Given the description of an element on the screen output the (x, y) to click on. 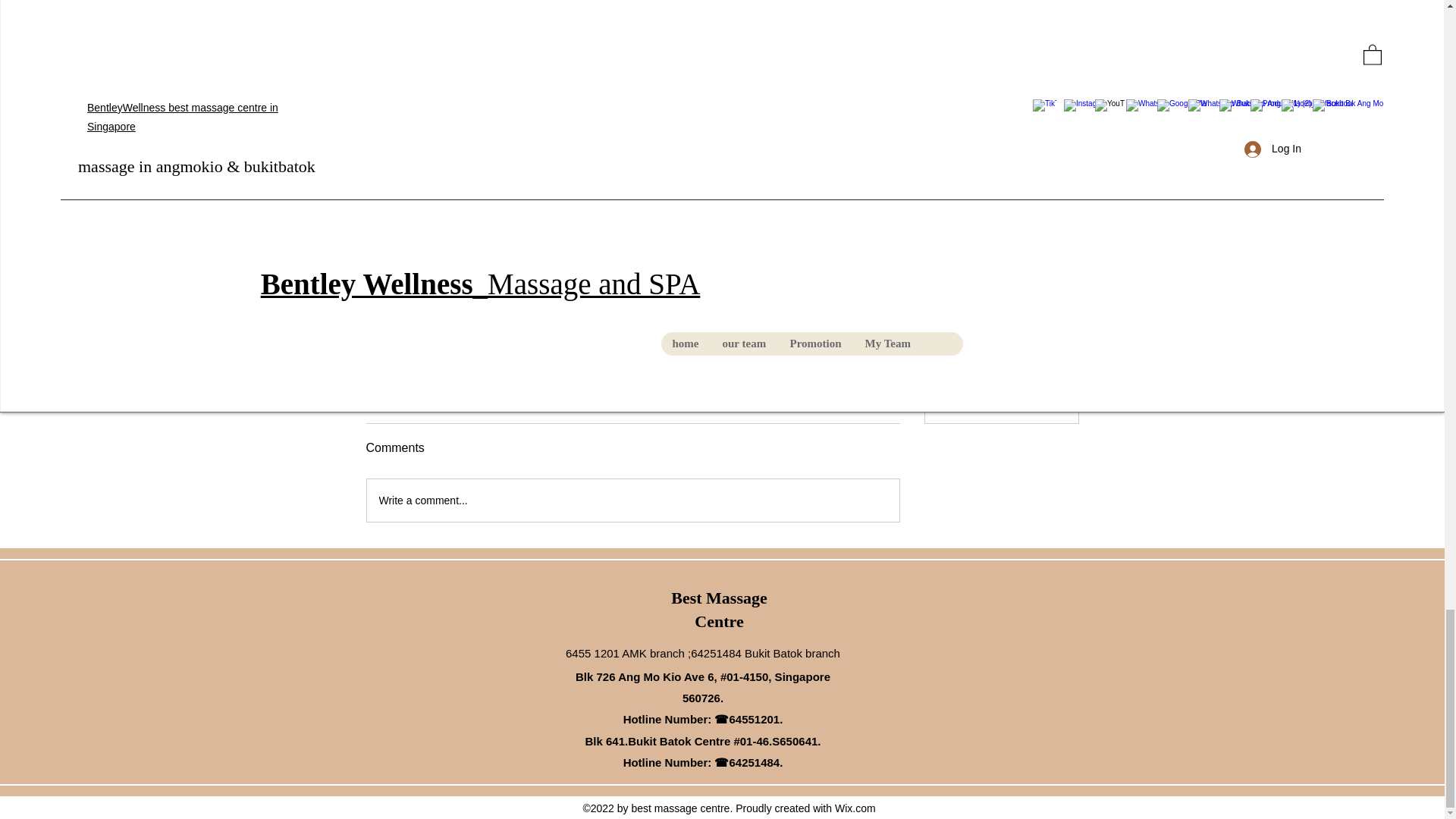
Share (451, 398)
Write a comment... (632, 500)
Best Massage Centre (719, 609)
